Given the description of an element on the screen output the (x, y) to click on. 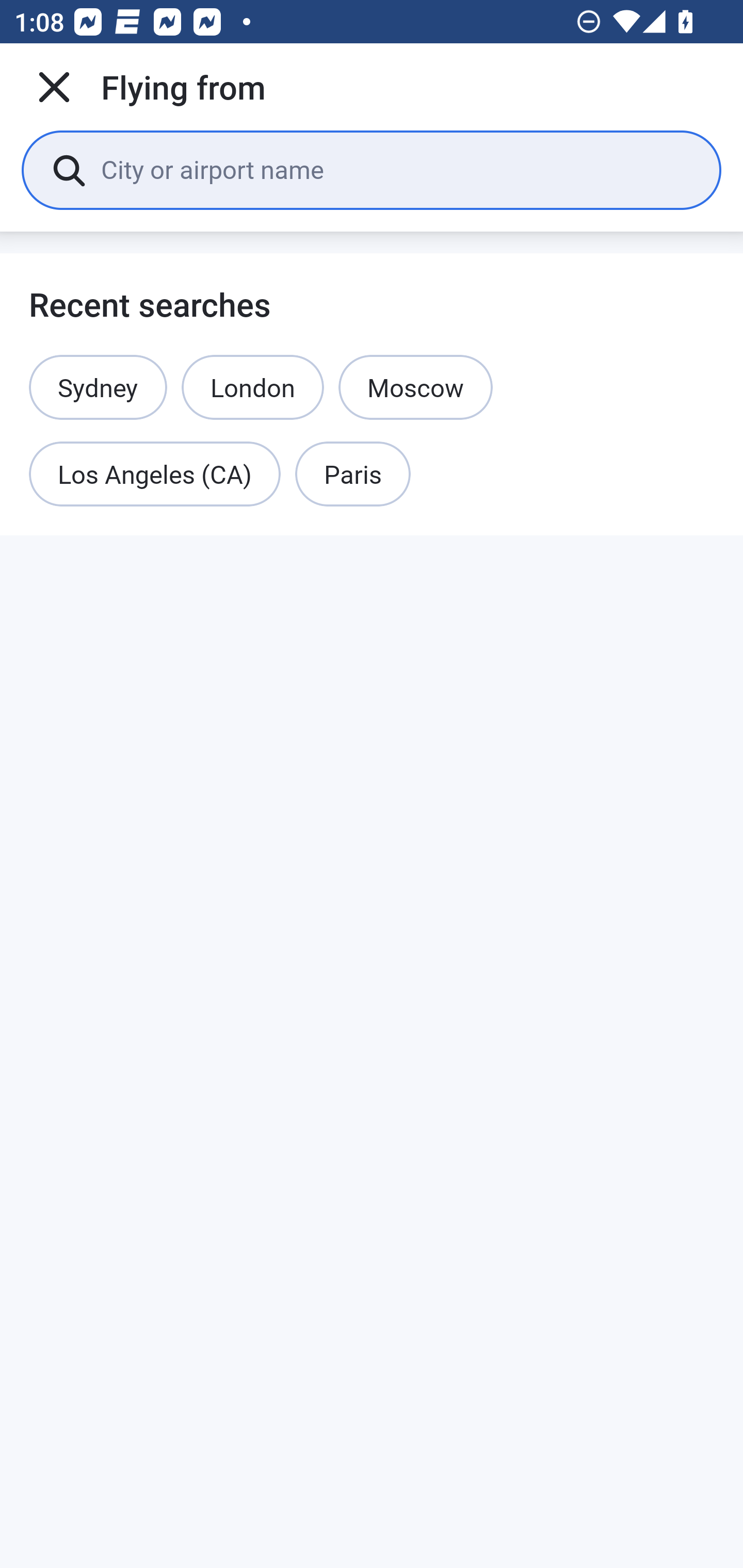
City or airport name (396, 169)
Sydney (97, 387)
London (252, 387)
Moscow (415, 387)
Los Angeles (CA) (154, 474)
Paris (352, 474)
